Given the description of an element on the screen output the (x, y) to click on. 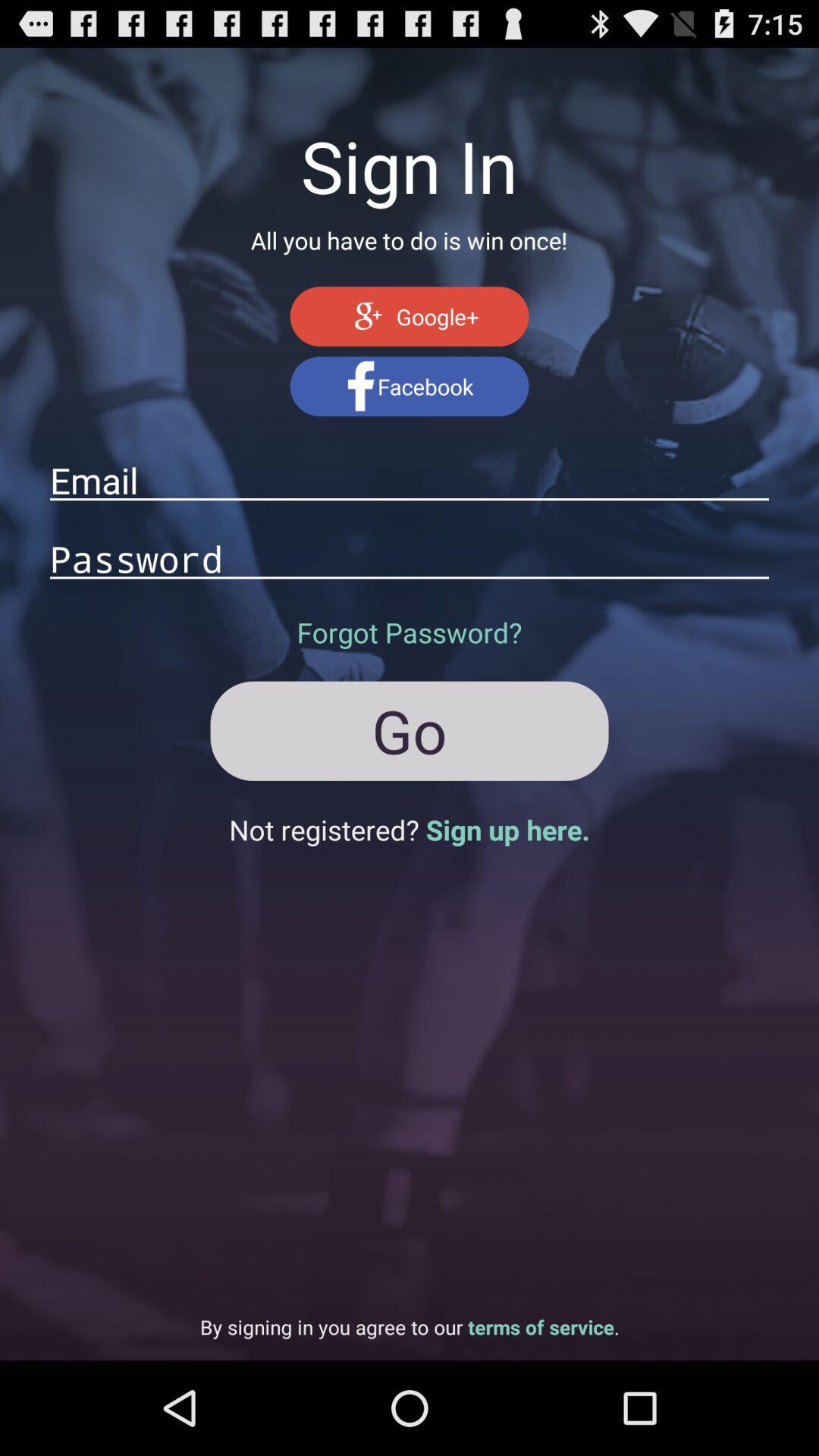
type email address (409, 480)
